Given the description of an element on the screen output the (x, y) to click on. 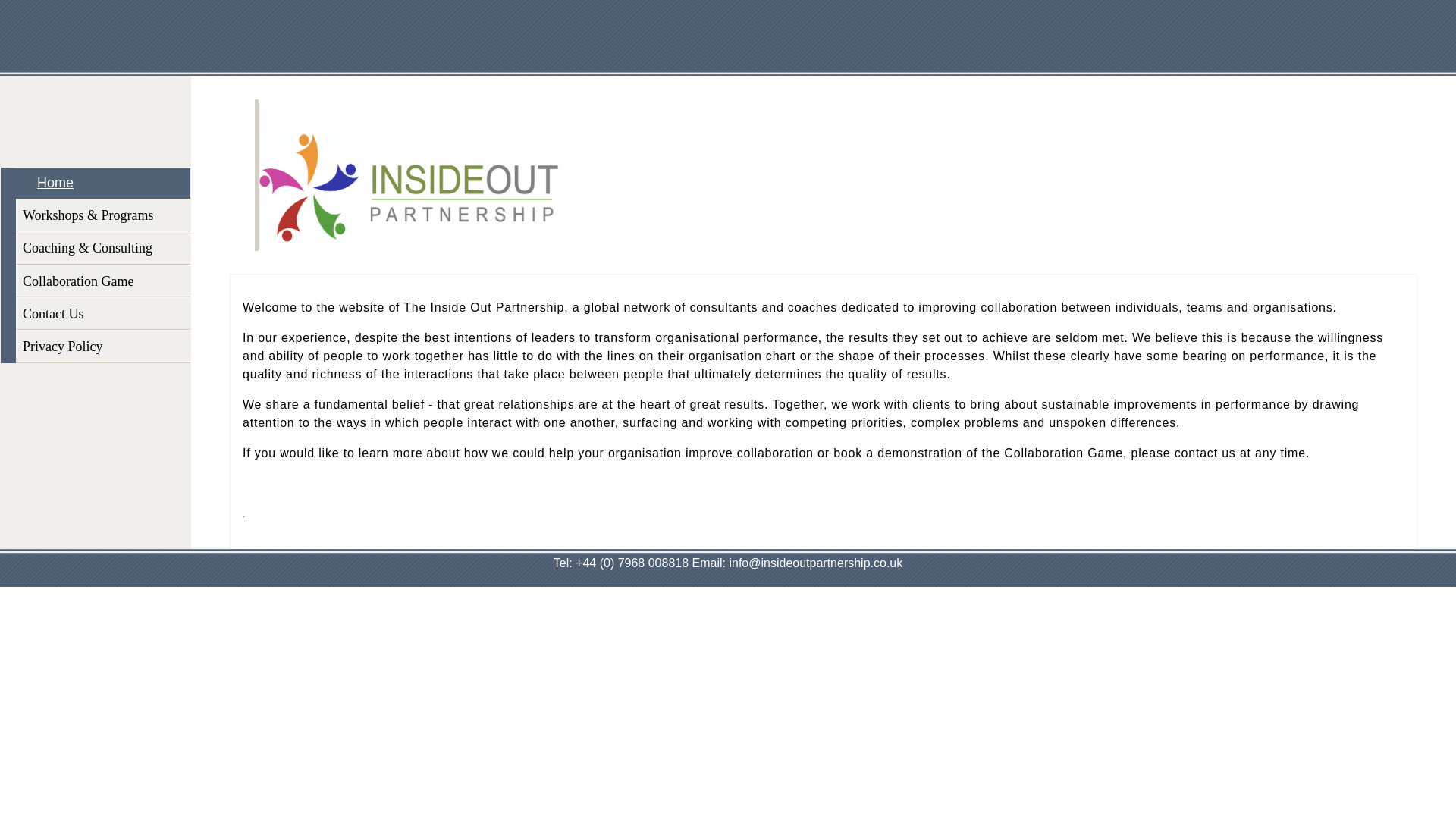
Home (103, 183)
Contact Us (103, 313)
Privacy Policy (103, 346)
Collaboration Game (103, 280)
